Given the description of an element on the screen output the (x, y) to click on. 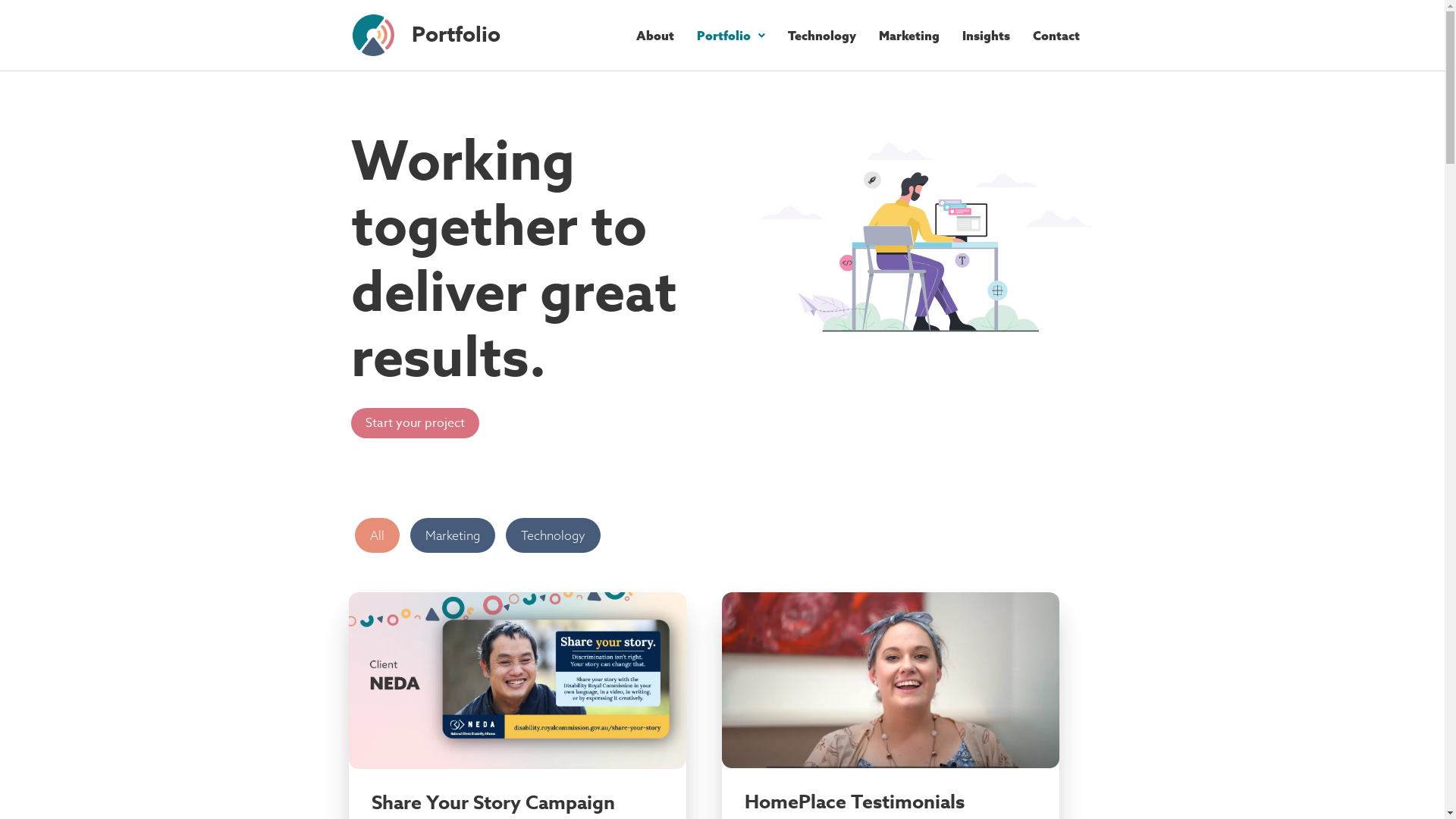
All Element type: text (376, 534)
Portfolio Element type: text (730, 35)
Marketing Element type: text (908, 35)
Portfolio Element type: text (496, 34)
Insights Element type: text (985, 35)
HomePlace Testimonials Element type: text (854, 801)
Contact Element type: text (1056, 35)
Technology Element type: text (552, 534)
Share Your Story Campaign Element type: text (493, 802)
Start your project Element type: text (414, 422)
Marketing Element type: text (451, 534)
About Element type: text (654, 35)
Technology Element type: text (821, 35)
